Given the description of an element on the screen output the (x, y) to click on. 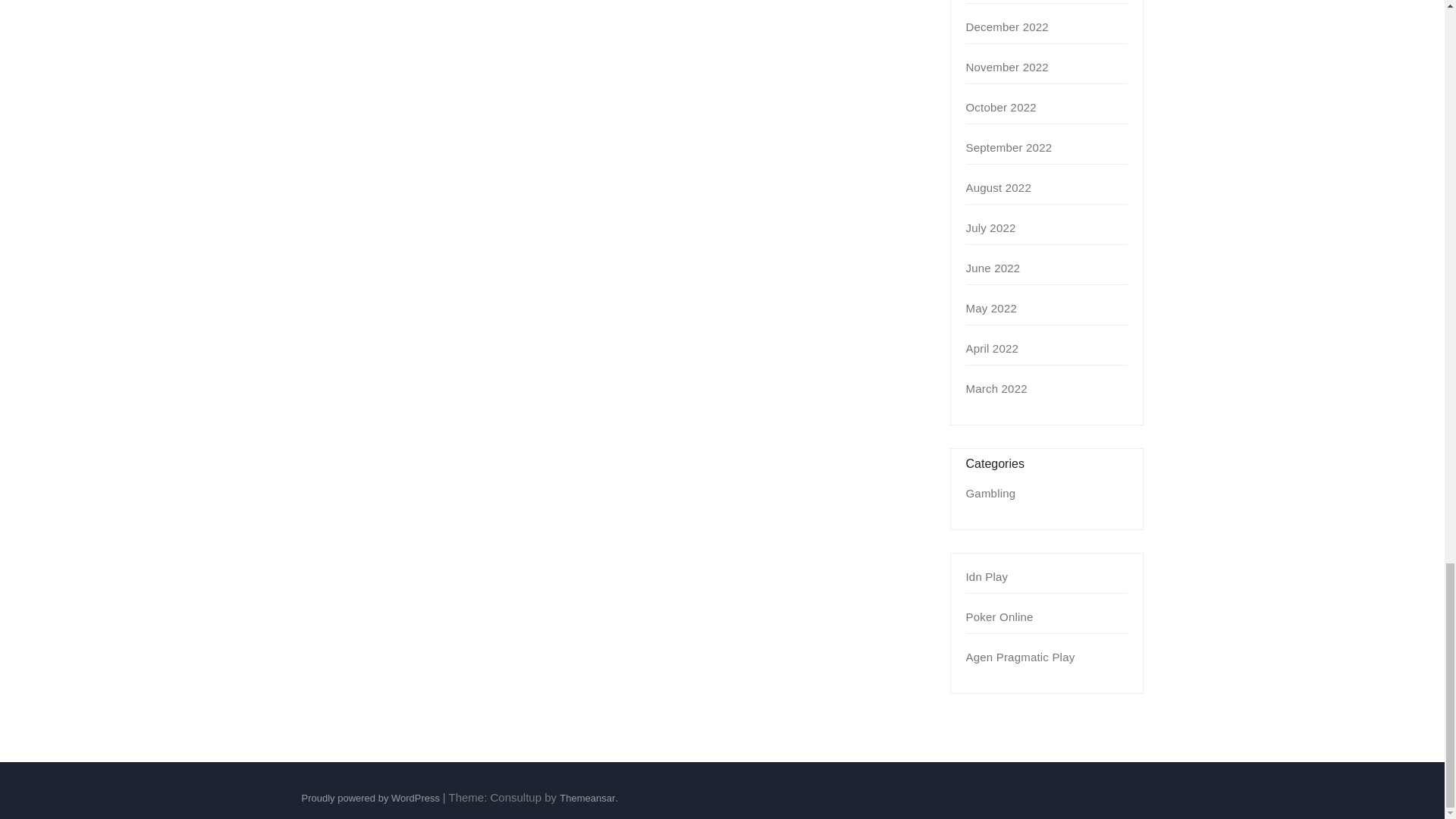
October 2022 (1001, 106)
June 2022 (993, 267)
July 2022 (991, 227)
September 2022 (1009, 146)
December 2022 (1007, 26)
August 2022 (998, 187)
November 2022 (1007, 66)
